Given the description of an element on the screen output the (x, y) to click on. 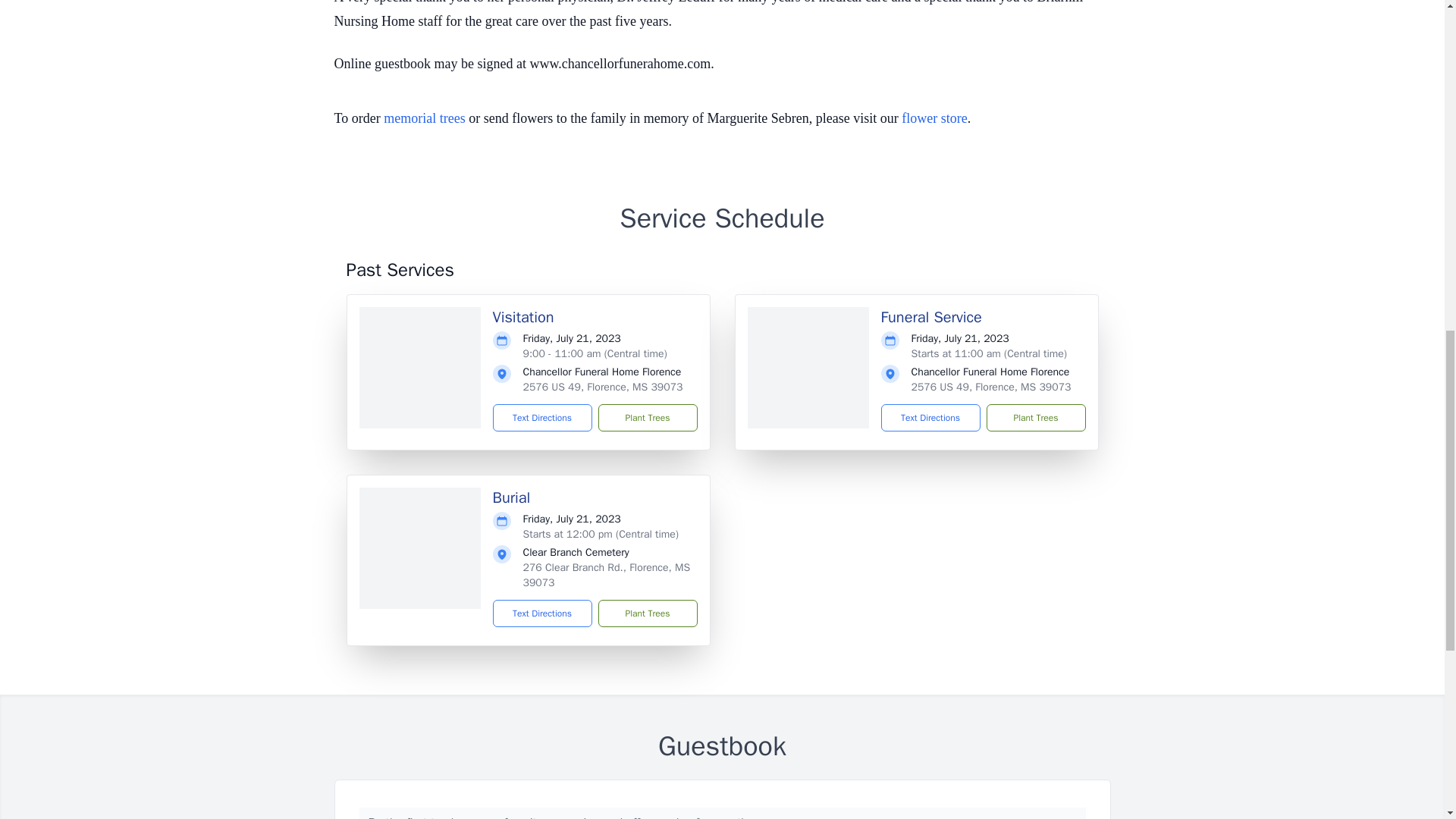
Text Directions (542, 613)
2576 US 49, Florence, MS 39073 (991, 386)
2576 US 49, Florence, MS 39073 (602, 386)
Plant Trees (646, 613)
276 Clear Branch Rd., Florence, MS 39073 (606, 574)
Plant Trees (646, 417)
flower store (933, 118)
Text Directions (542, 417)
memorial trees (424, 118)
Plant Trees (1034, 417)
